Given the description of an element on the screen output the (x, y) to click on. 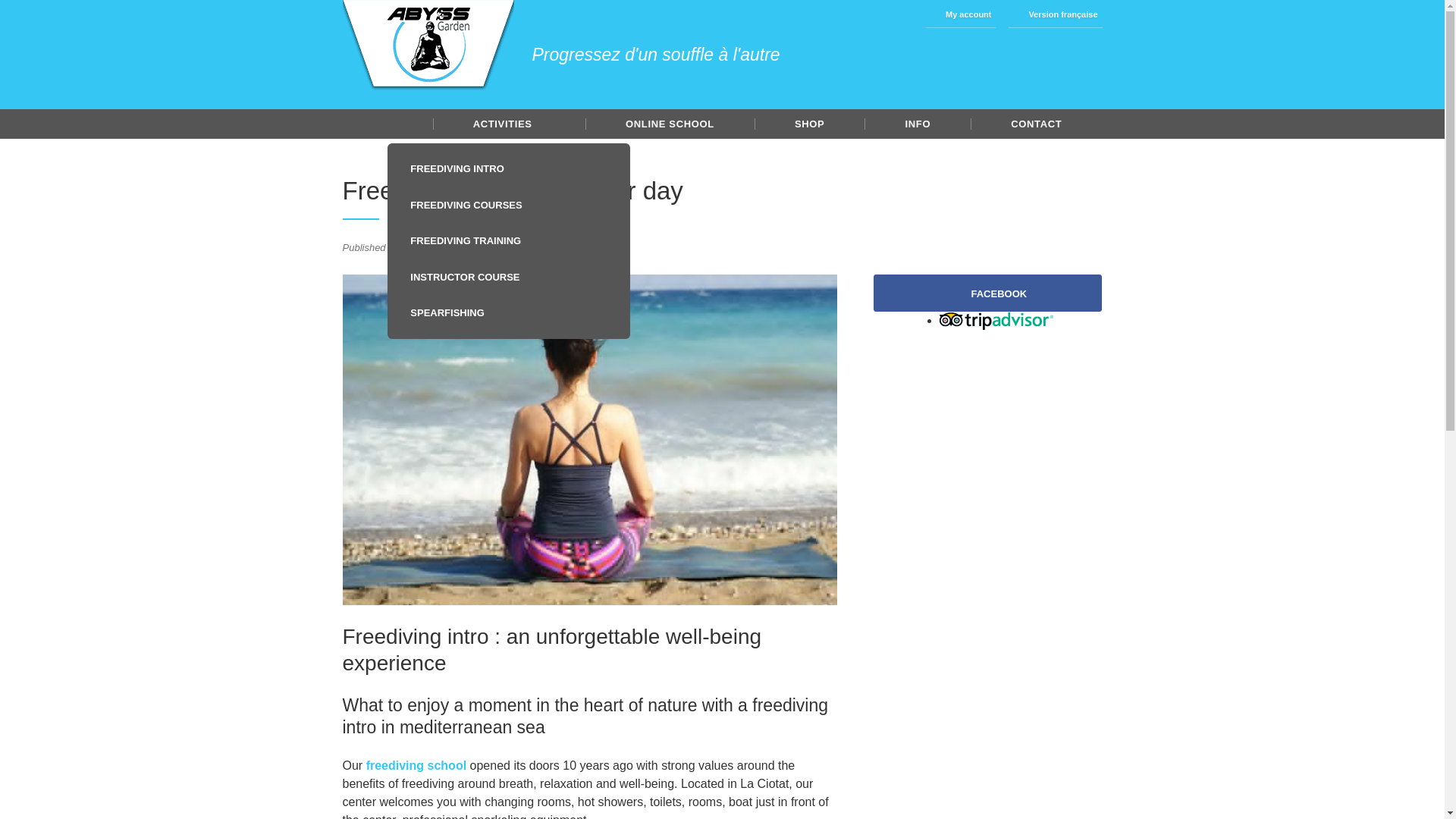
FACEBOOK (987, 293)
My account (960, 13)
SHOP (809, 123)
SPEARFISHING (508, 313)
FREEDIVING TRAINING (508, 240)
FREEDIVING COURSES (508, 204)
FREEDIVING INTRO (508, 168)
CONTACT (1036, 123)
ACTIVITIES (508, 123)
ONLINE SCHOOL (669, 123)
